Given the description of an element on the screen output the (x, y) to click on. 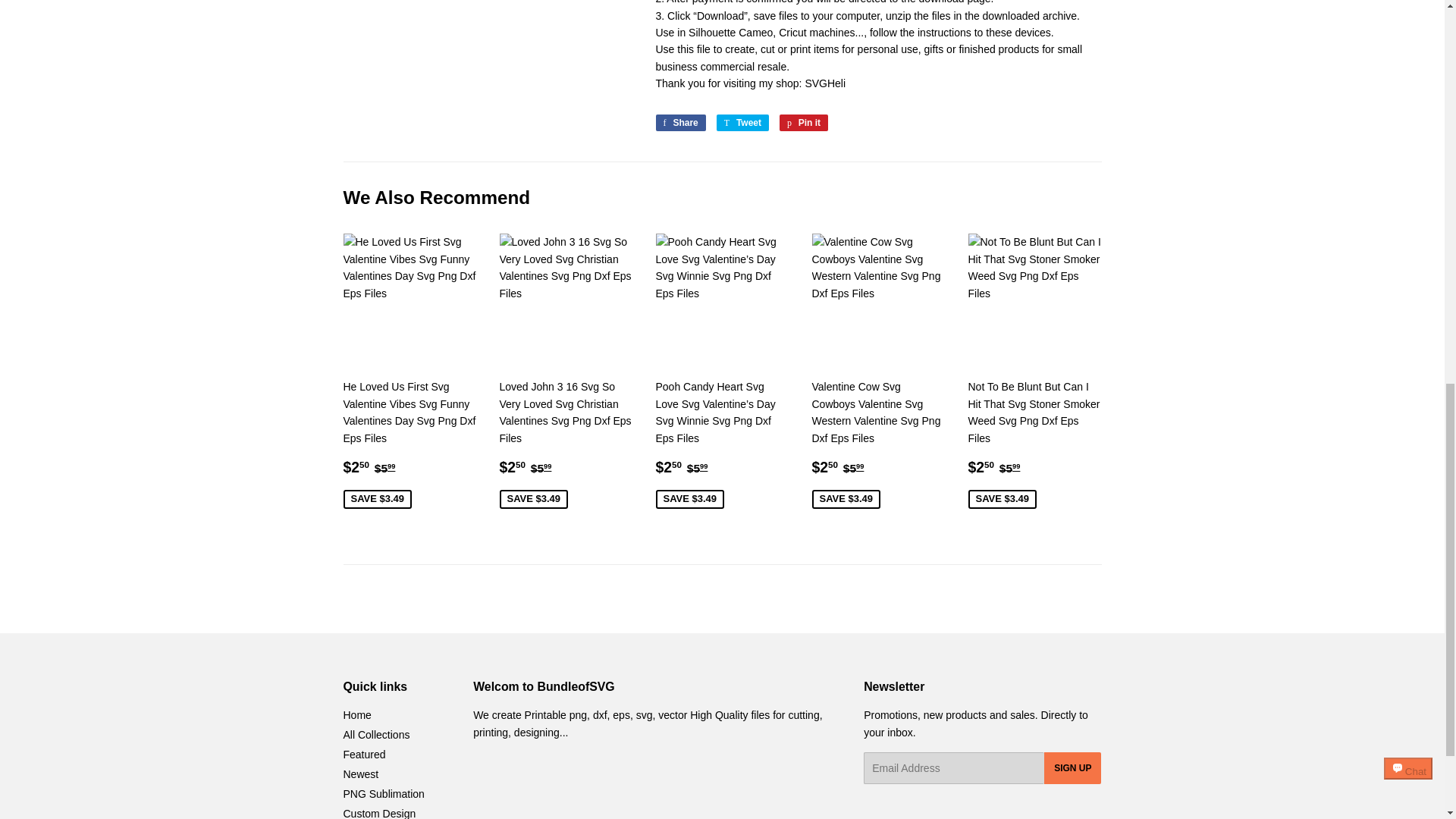
All Collections (375, 734)
SIGN UP (1071, 767)
Featured (363, 754)
Pin on Pinterest (803, 122)
Custom Design (803, 122)
SVGHeli (378, 813)
Home (679, 122)
Tweet on Twitter (825, 82)
SVG Heli Designs (356, 715)
PNG Sublimation (742, 122)
Share on Facebook (825, 82)
Newest (382, 793)
